Given the description of an element on the screen output the (x, y) to click on. 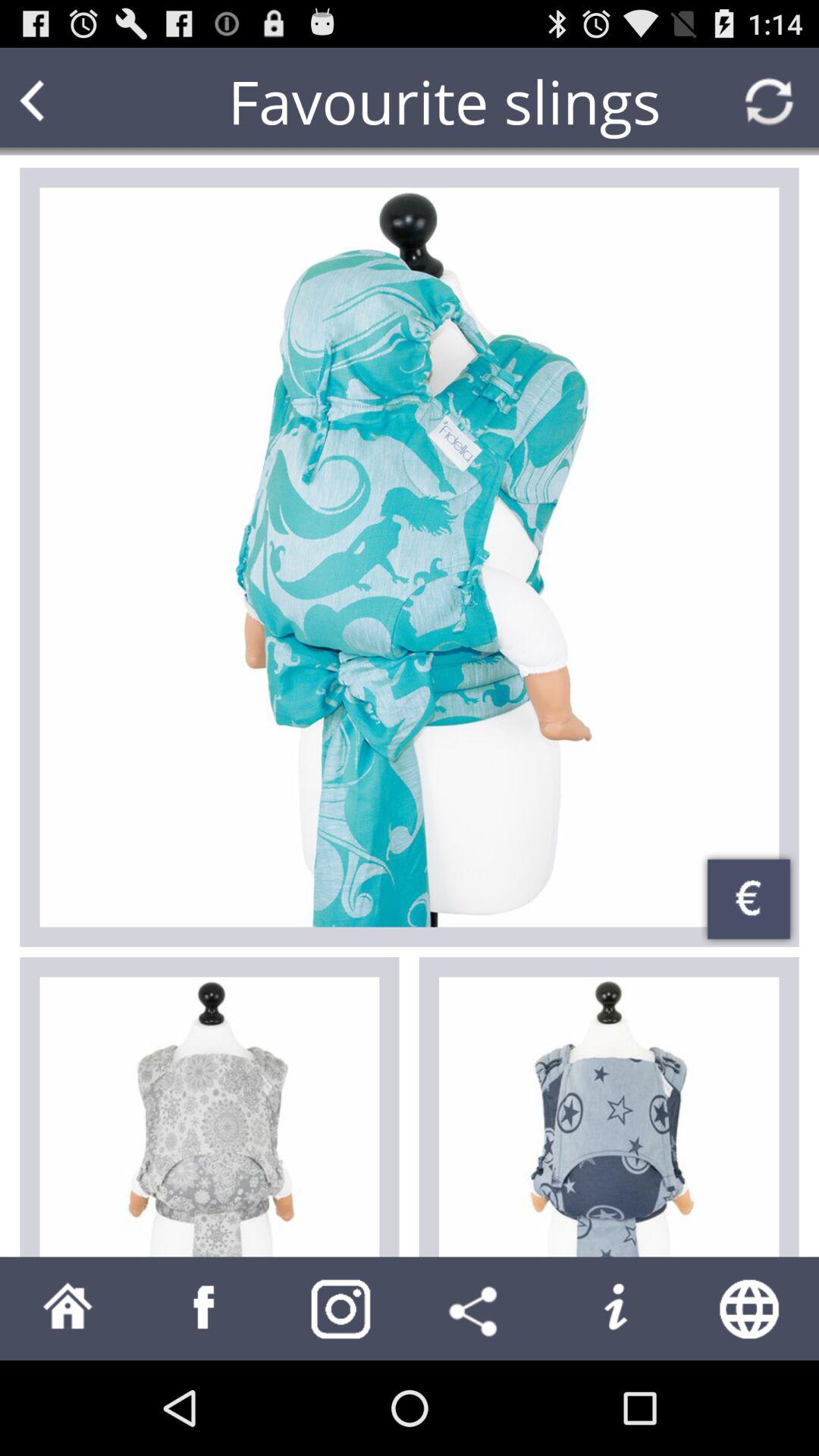
select the icon next to the favourite slings item (61, 101)
